Given the description of an element on the screen output the (x, y) to click on. 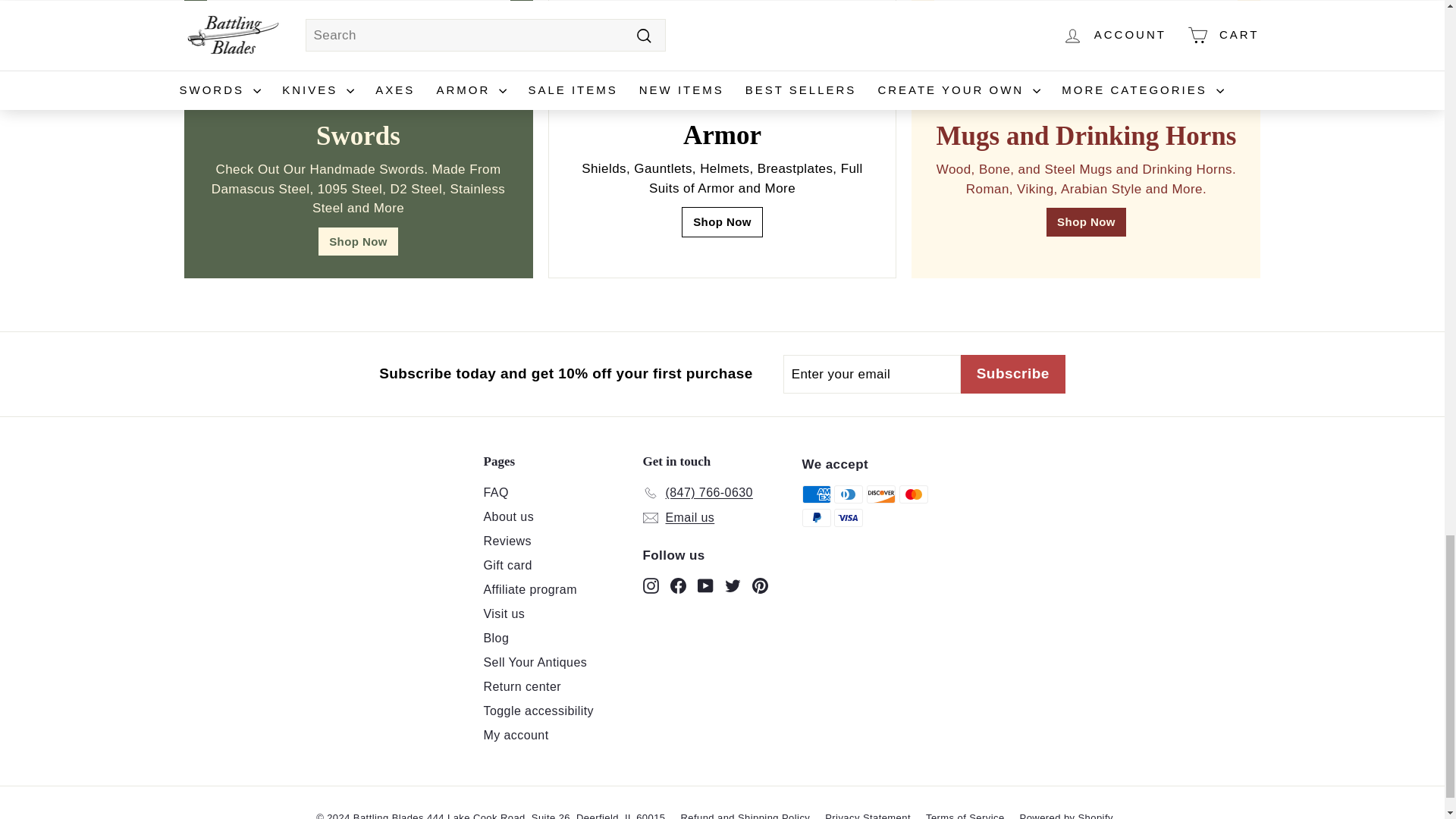
instagram (651, 585)
American Express (816, 494)
Diners Club (848, 494)
twitter (733, 585)
